Given the description of an element on the screen output the (x, y) to click on. 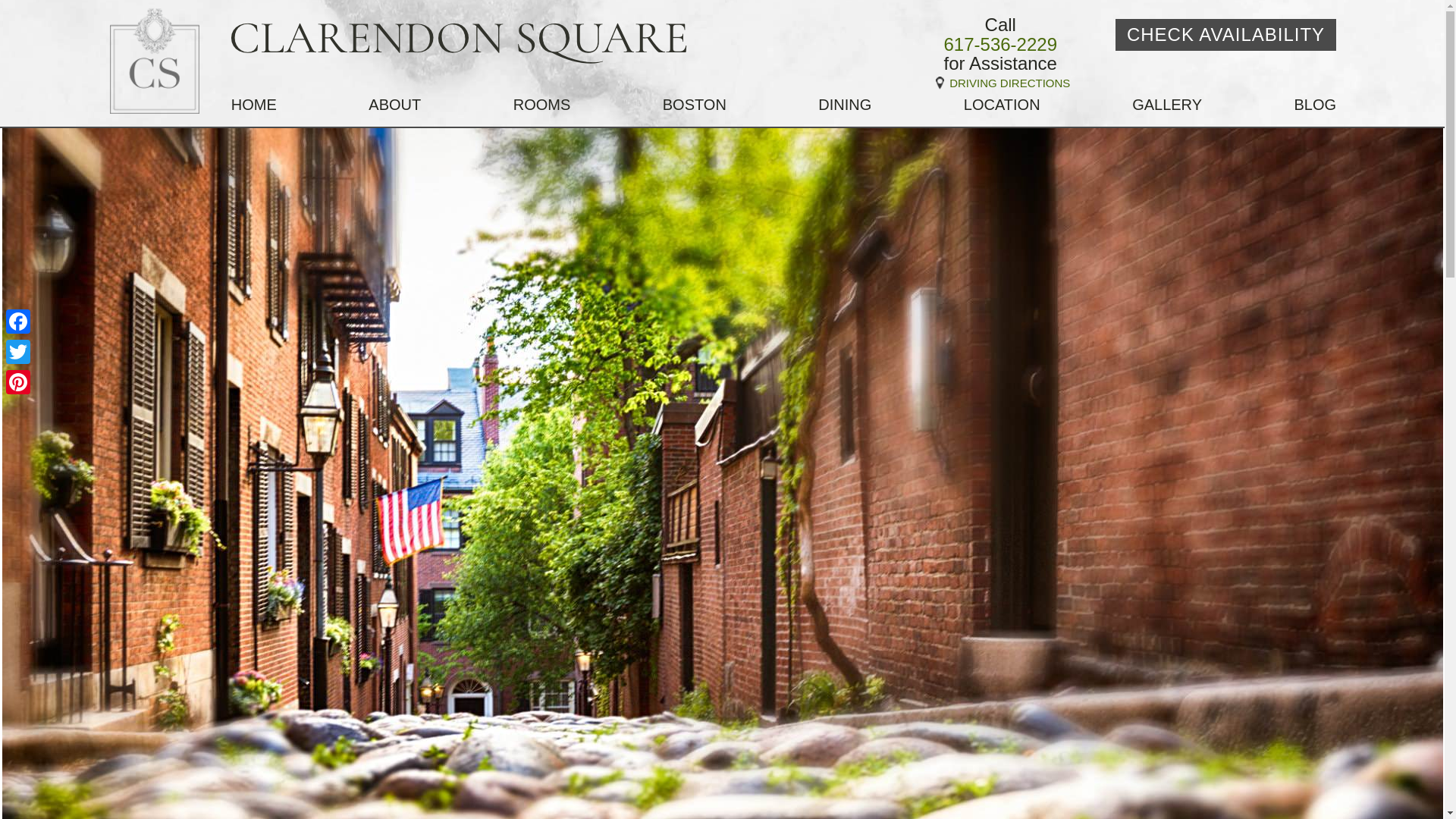
ABOUT (394, 104)
ROOMS (541, 104)
BOSTON (694, 104)
CHECK AVAILABILITY (1225, 34)
HOME (253, 104)
DRIVING DIRECTIONS (999, 82)
617-536-2229 (999, 44)
DINING (844, 104)
